Given the description of an element on the screen output the (x, y) to click on. 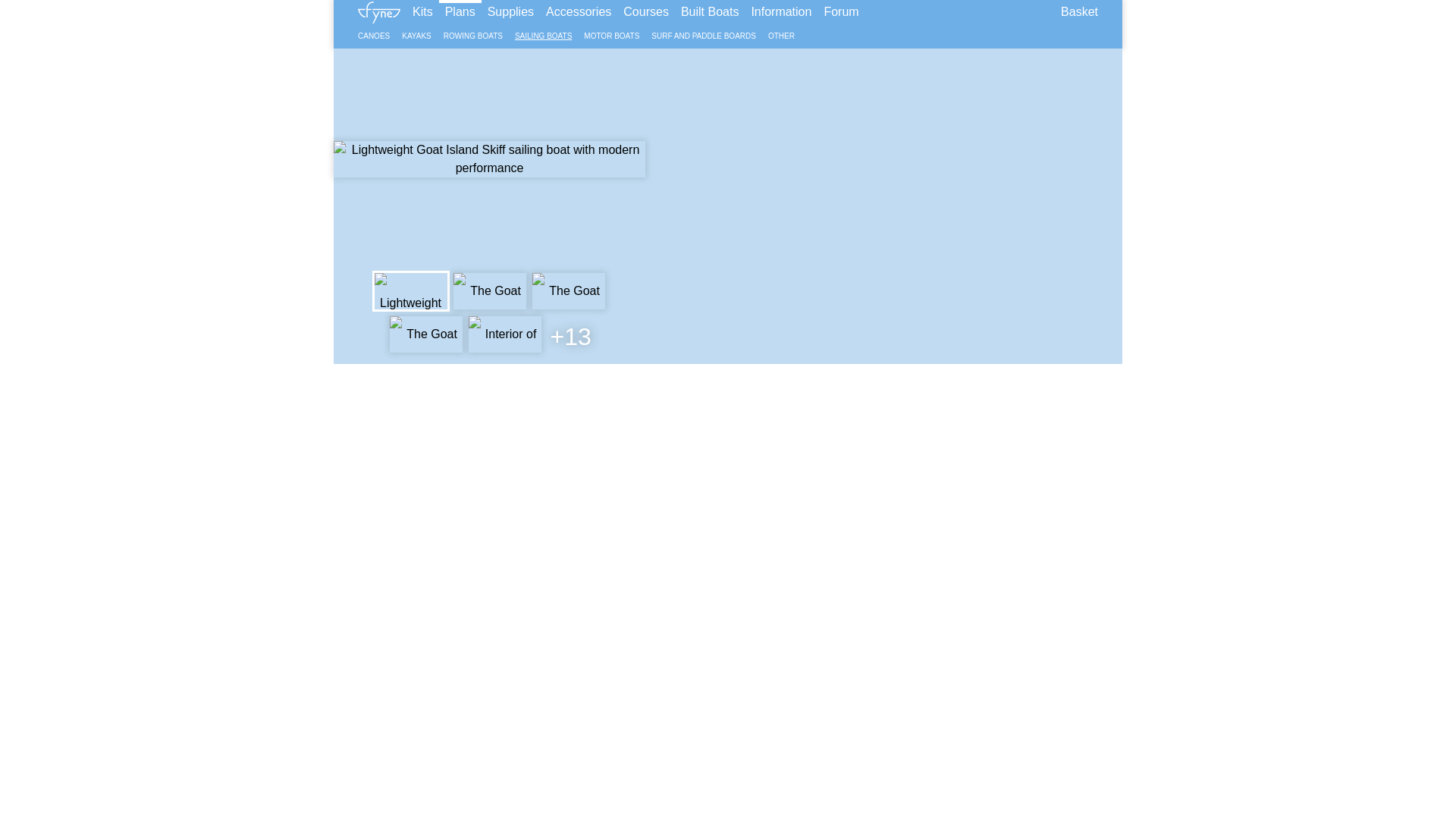
Basket (1078, 12)
CANOES (374, 35)
Forum (840, 12)
More Photos (568, 336)
MOTOR BOATS (611, 35)
Built Boats (709, 12)
Kits (422, 12)
Supplies (510, 12)
Accessories (578, 12)
Courses (646, 12)
